Given the description of an element on the screen output the (x, y) to click on. 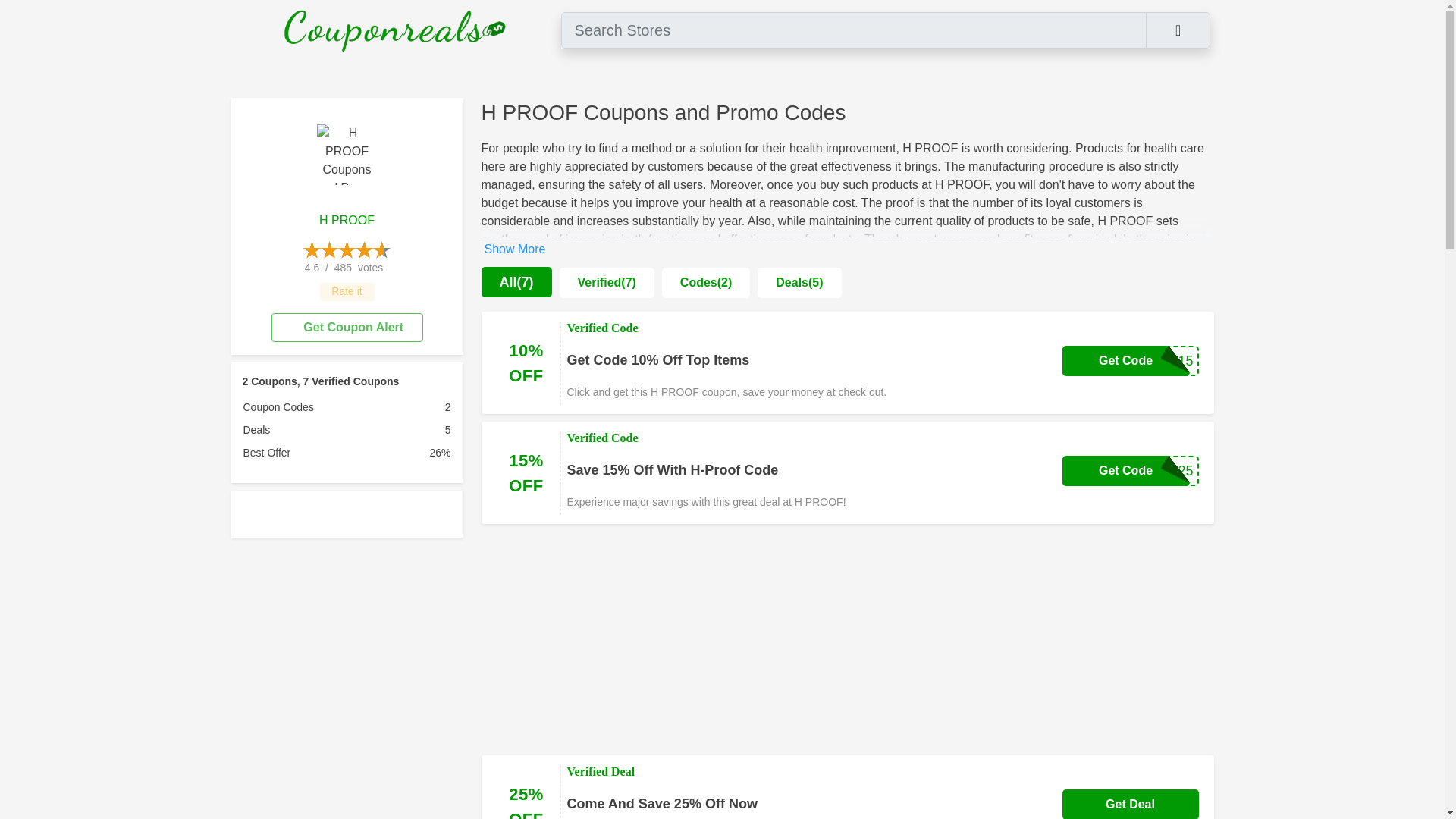
H PROOF Coupons (347, 154)
Get Deal (1129, 804)
Rate it (347, 291)
Get Code (1125, 360)
    Get Coupon Alert (346, 327)
H PROOF (346, 220)
Get Code (1125, 470)
